Given the description of an element on the screen output the (x, y) to click on. 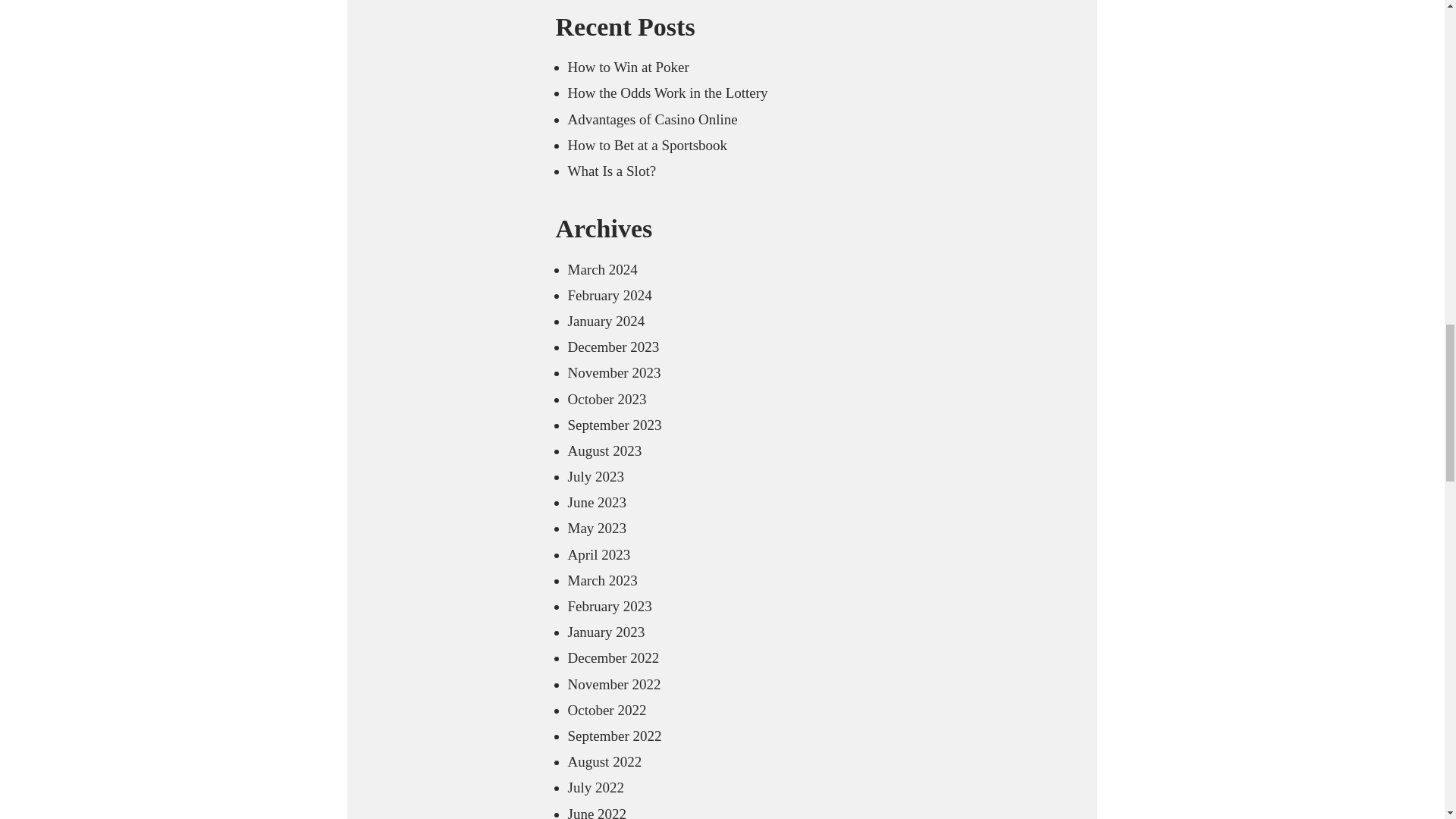
What Is a Slot? (611, 170)
September 2022 (614, 735)
April 2023 (598, 554)
October 2022 (606, 709)
Advantages of Casino Online (651, 119)
September 2023 (614, 424)
January 2023 (606, 631)
December 2022 (613, 657)
August 2023 (604, 450)
May 2023 (596, 528)
